Given the description of an element on the screen output the (x, y) to click on. 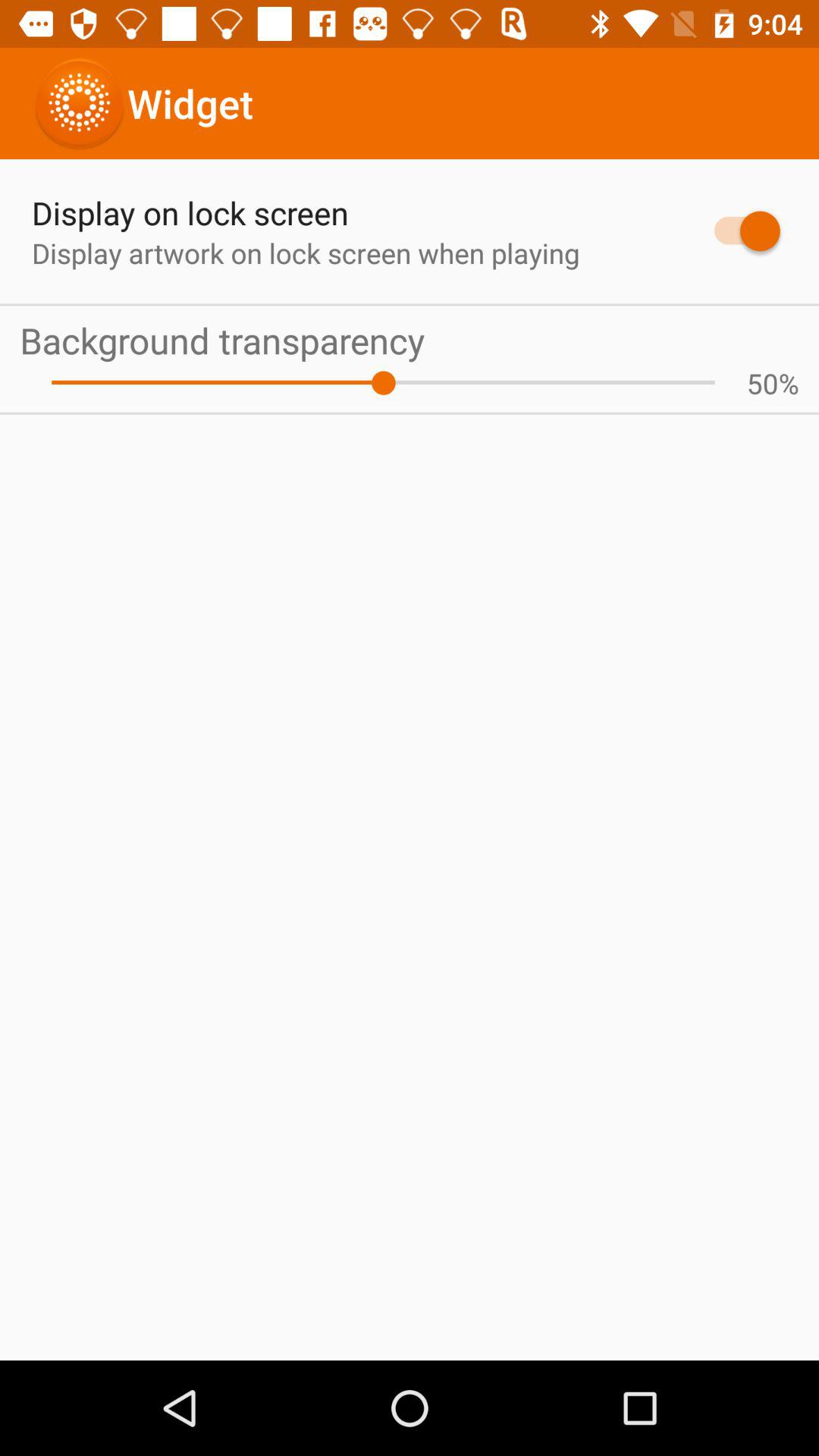
click the app to the right of display artwork on app (739, 231)
